Given the description of an element on the screen output the (x, y) to click on. 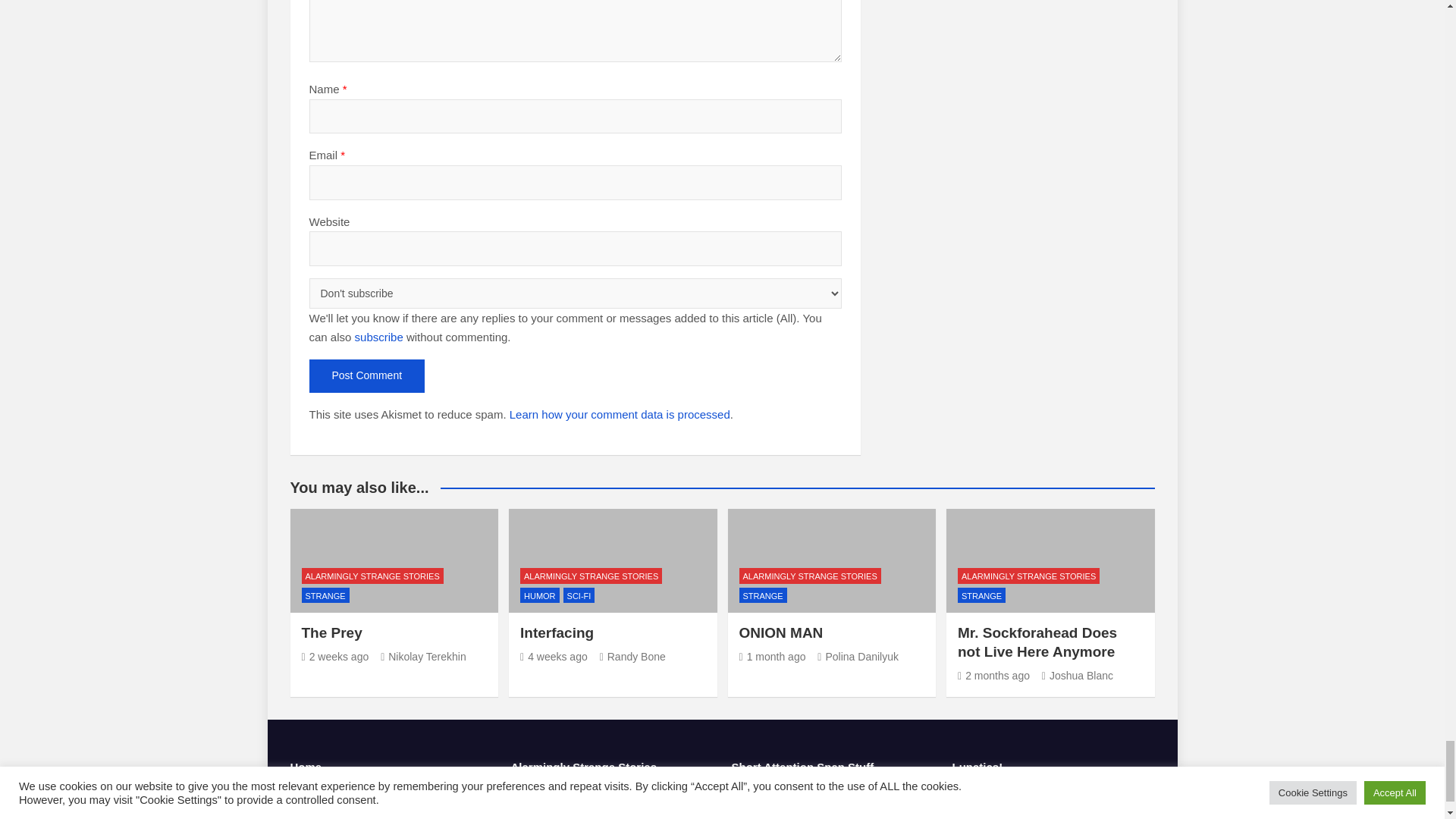
Post Comment (366, 376)
